Given the description of an element on the screen output the (x, y) to click on. 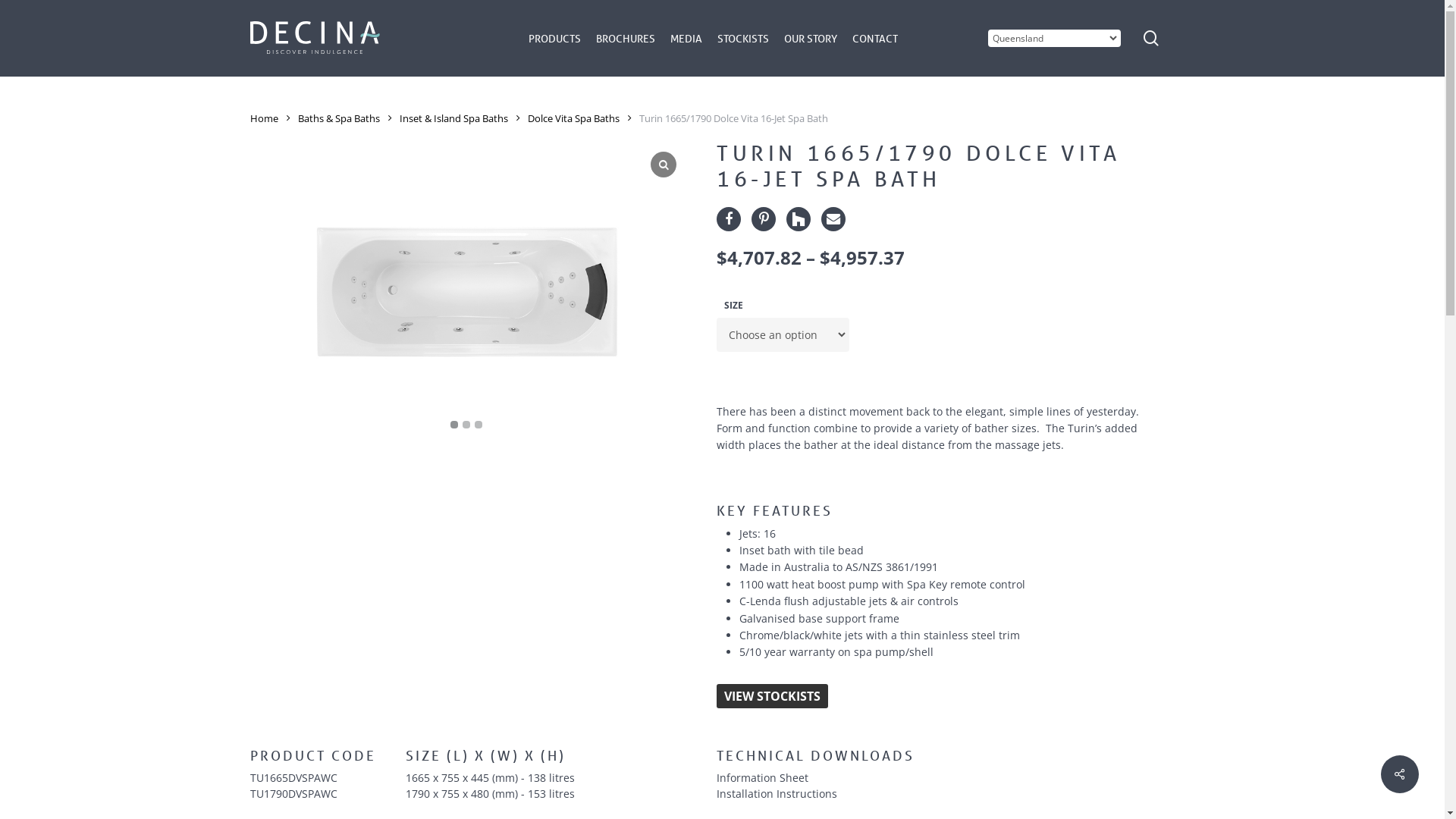
search Element type: text (1151, 38)
BROCHURES Element type: text (625, 38)
3 Element type: text (478, 424)
Inset & Island Spa Baths Element type: text (453, 117)
PRODUCTS Element type: text (554, 38)
OUR STORY Element type: text (810, 38)
Dolce Vita Spa Baths Element type: text (573, 117)
2 Element type: text (466, 424)
1 Element type: text (454, 424)
CONTACT Element type: text (874, 38)
Installation Instructions Element type: text (938, 793)
Baths & Spa Baths Element type: text (338, 117)
MEDIA Element type: text (686, 38)
Home Element type: text (264, 117)
STOCKISTS Element type: text (742, 38)
VIEW STOCKISTS Element type: text (772, 696)
Information Sheet Element type: text (938, 777)
